Given the description of an element on the screen output the (x, y) to click on. 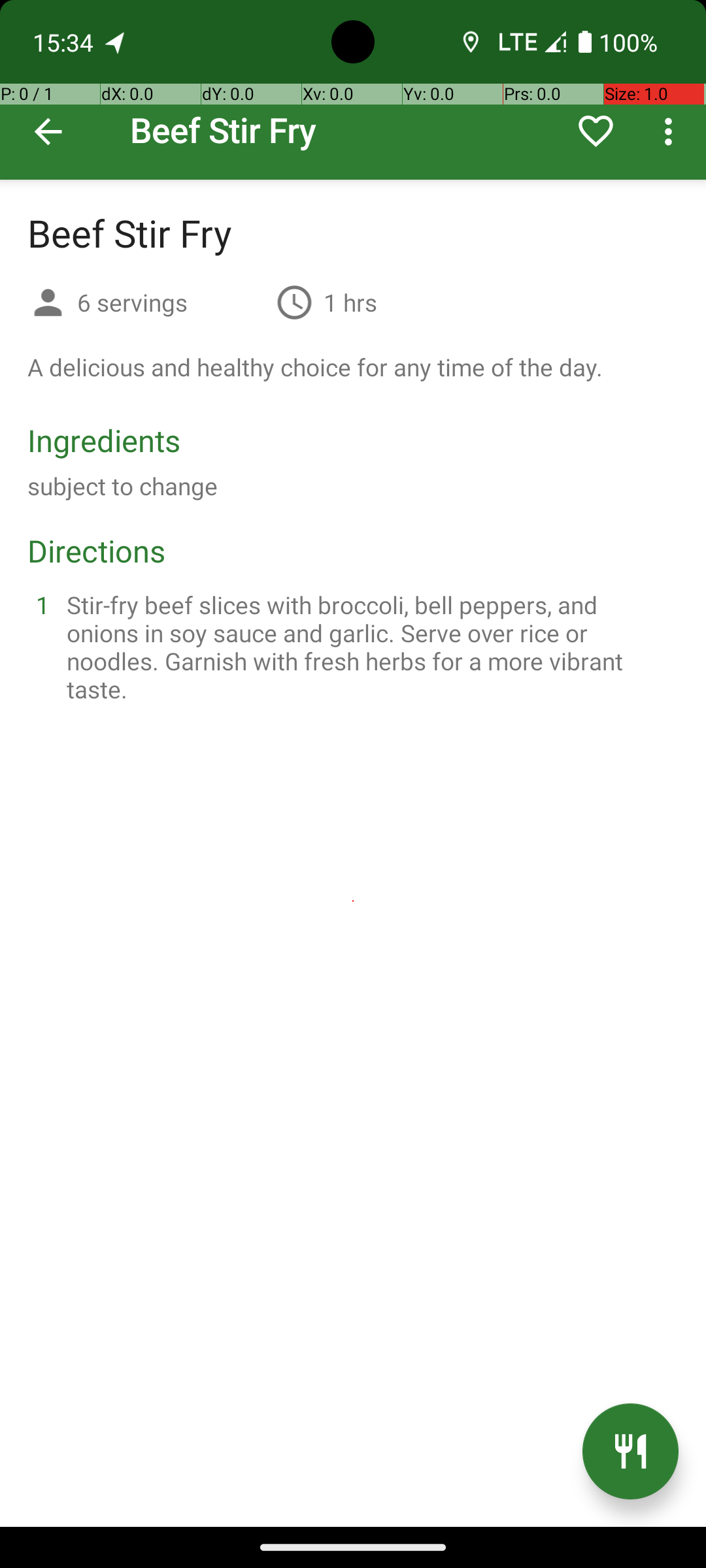
Stir-fry beef slices with broccoli, bell peppers, and onions in soy sauce and garlic. Serve over rice or noodles. Garnish with fresh herbs for a more vibrant taste. Element type: android.widget.TextView (368, 646)
